Given the description of an element on the screen output the (x, y) to click on. 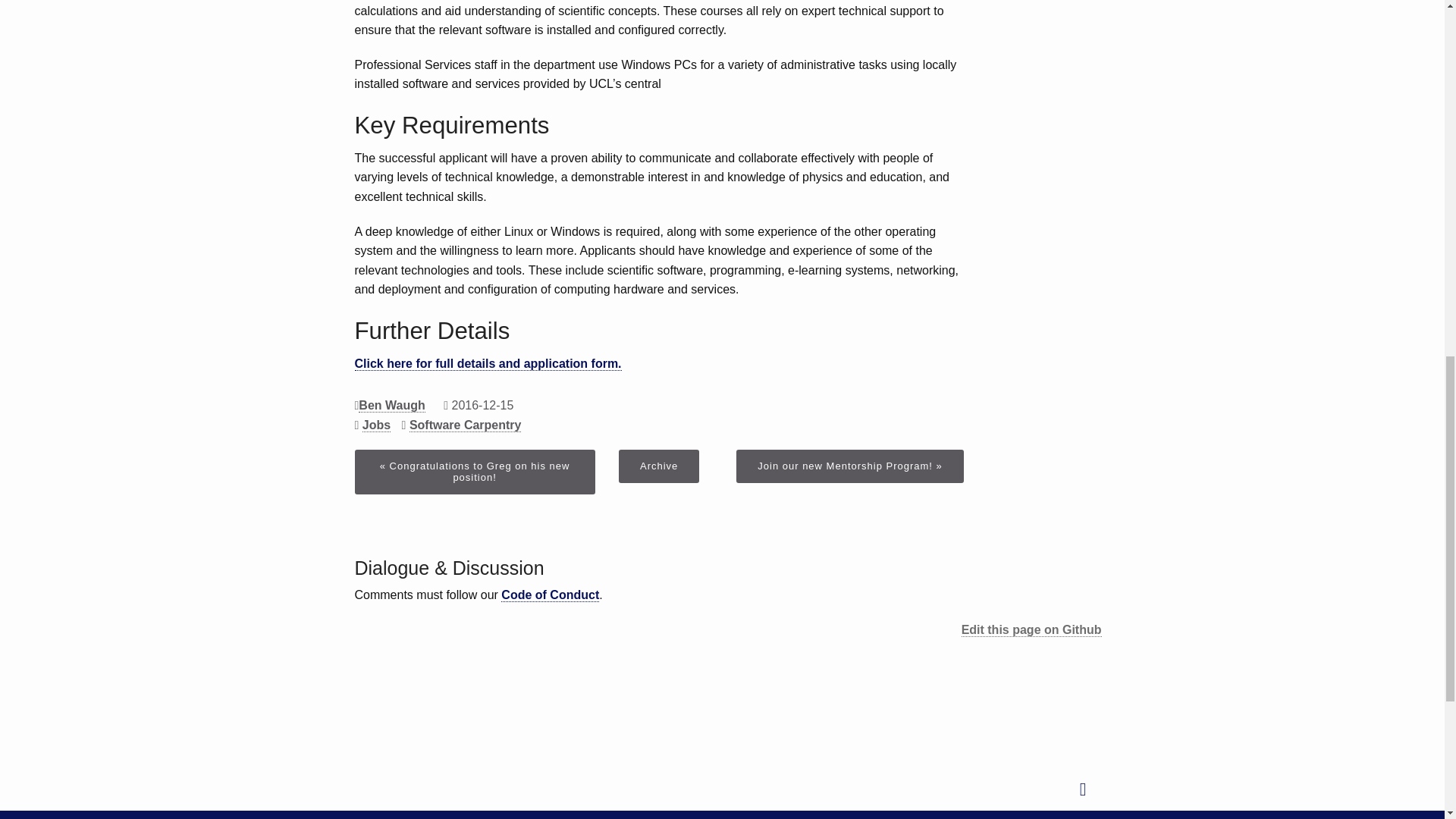
Blog Archive (658, 466)
